Given the description of an element on the screen output the (x, y) to click on. 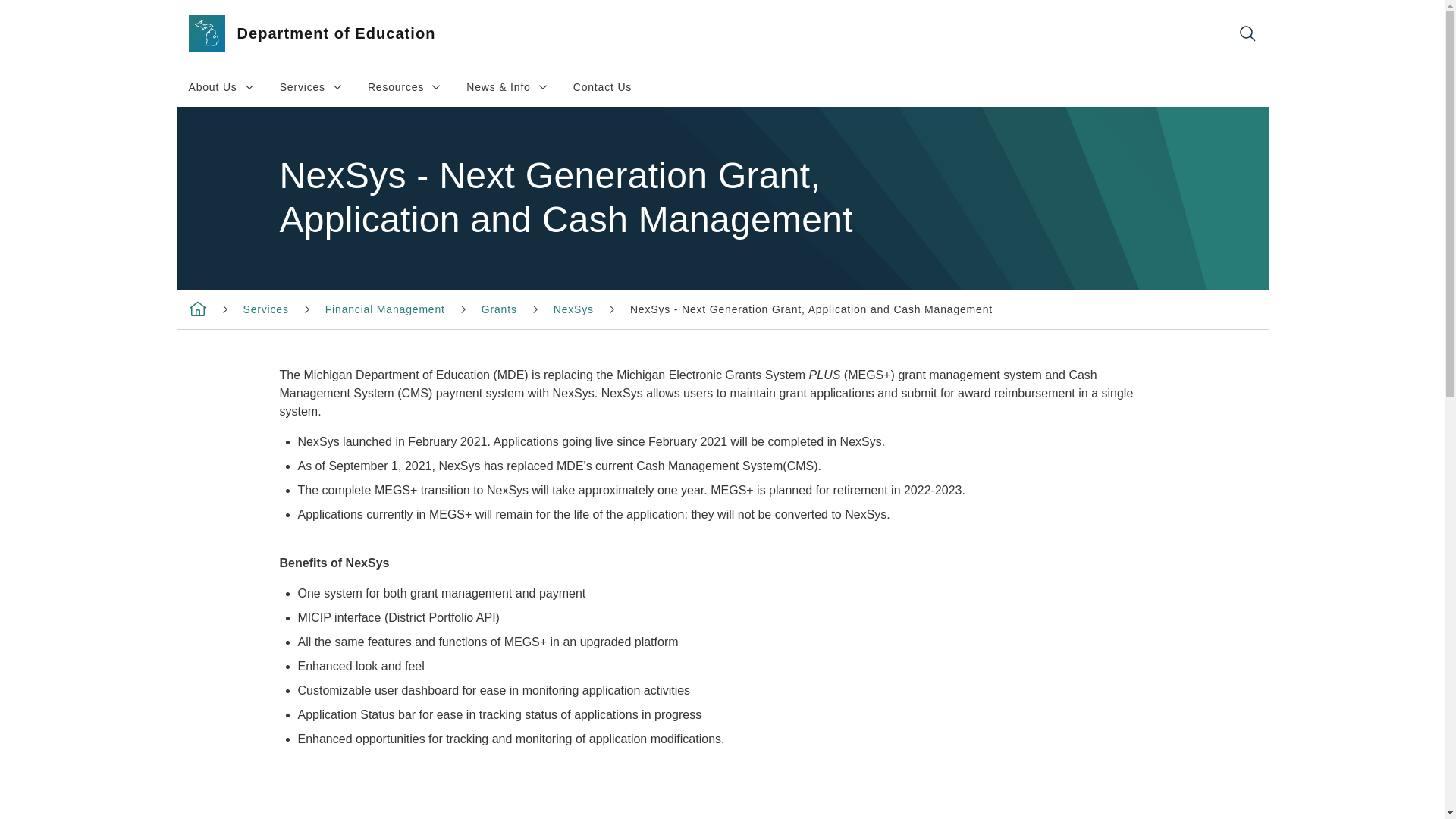
NexSys (573, 309)
Grants (404, 87)
Financial Management (498, 309)
Services (221, 87)
Michigan Department of Education (384, 309)
Contact Us (265, 309)
Department of Education (196, 308)
